Given the description of an element on the screen output the (x, y) to click on. 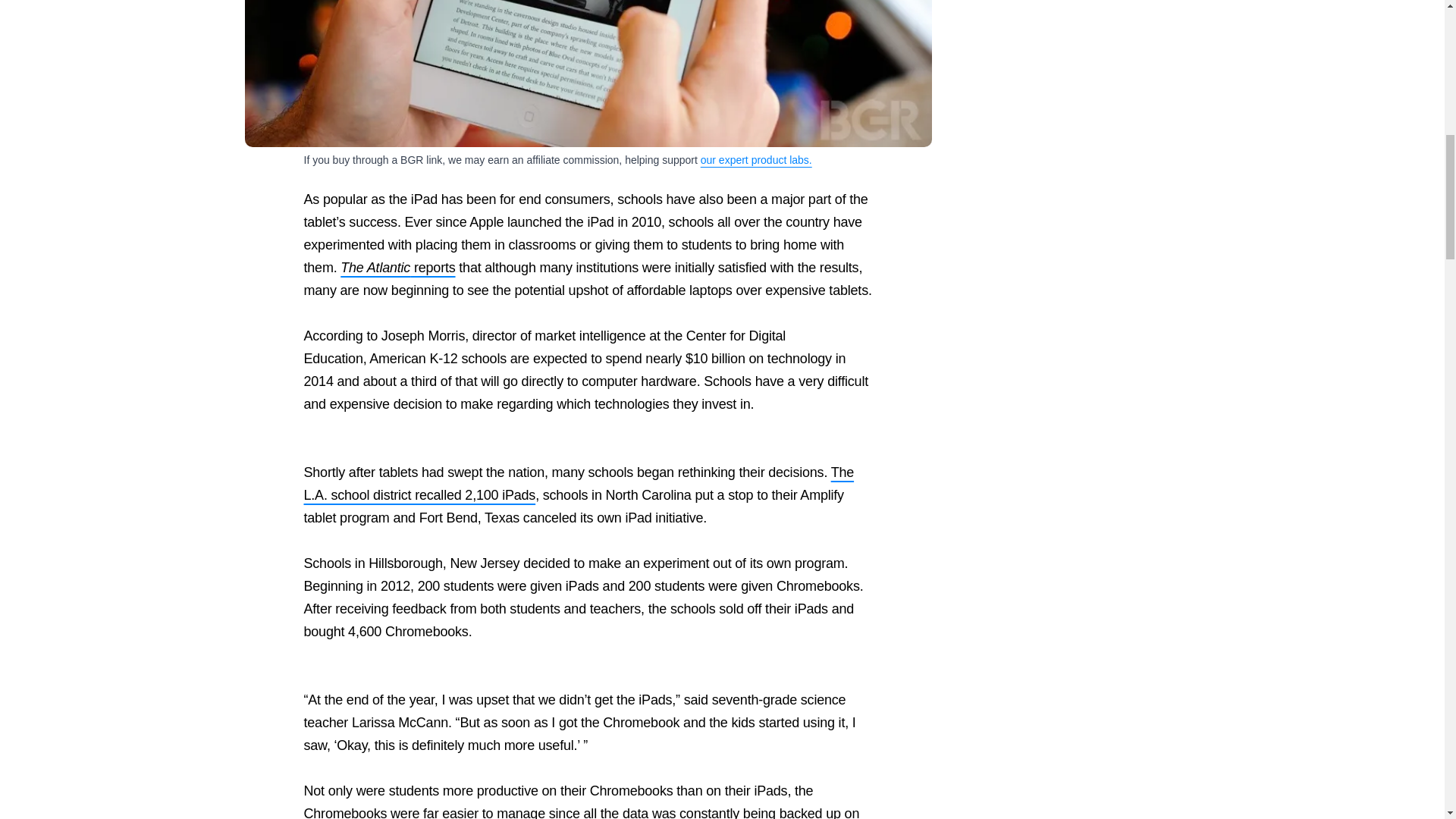
iPad vs. Chromebook For Students (587, 74)
